Given the description of an element on the screen output the (x, y) to click on. 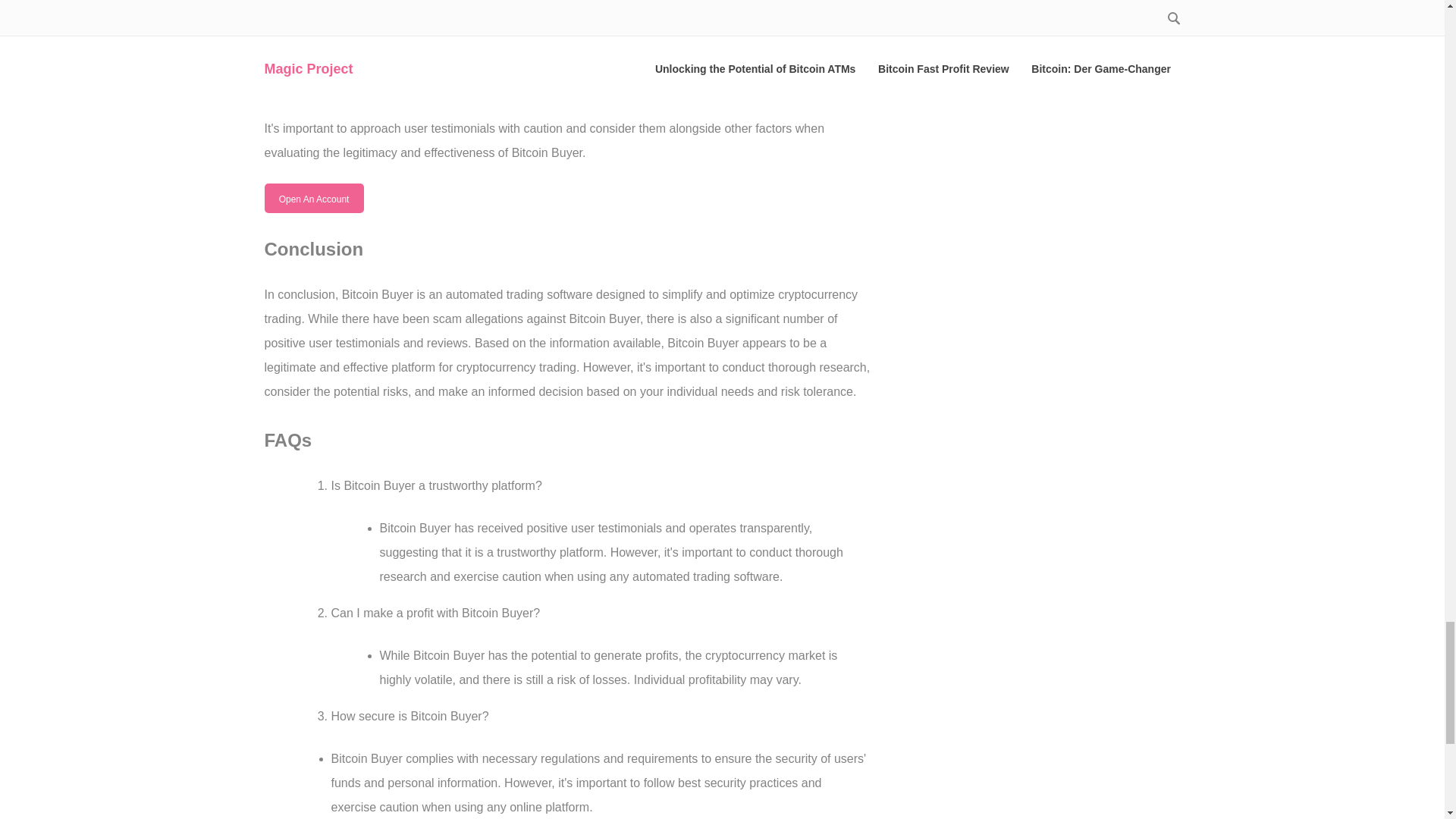
Open An Account (312, 197)
Open An Account (312, 197)
